Given the description of an element on the screen output the (x, y) to click on. 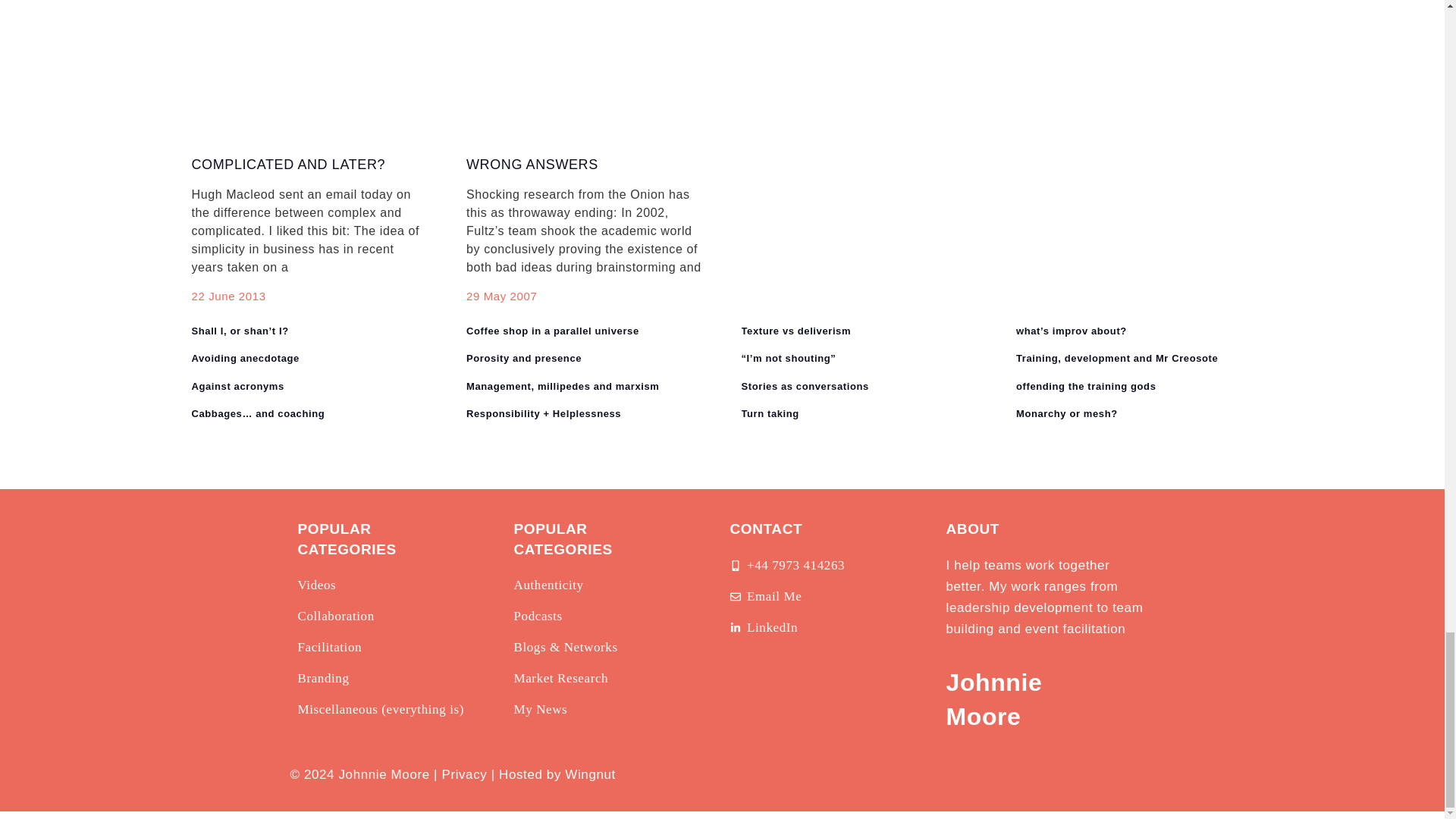
Authenticity (548, 585)
Videos (316, 585)
Facilitation (329, 647)
Johnnie Moorreon LinkedIn (763, 627)
My News (540, 709)
Collaboration (335, 616)
Branding (323, 678)
Podcasts (537, 616)
Contact Johnnie Moore (765, 596)
Market Research (560, 678)
